Given the description of an element on the screen output the (x, y) to click on. 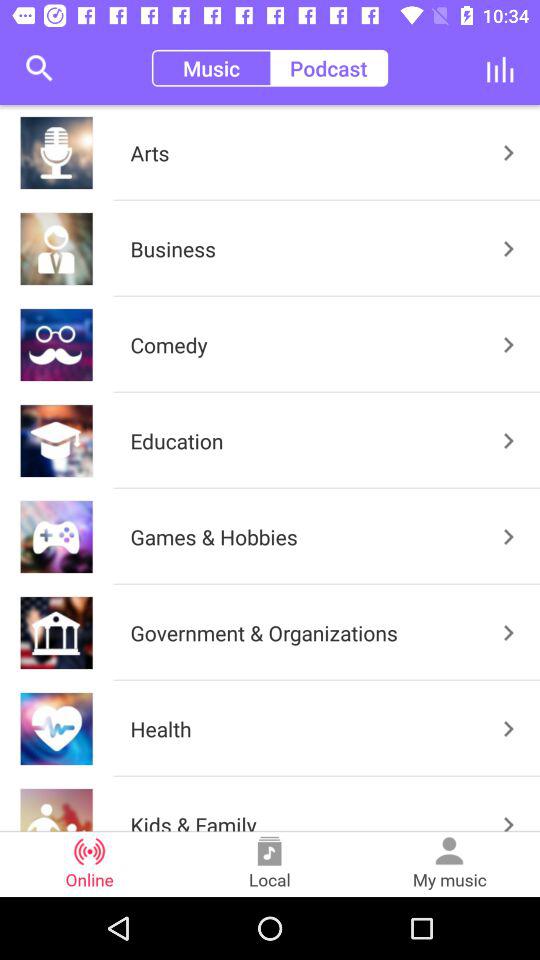
select the item above arts icon (328, 68)
